Given the description of an element on the screen output the (x, y) to click on. 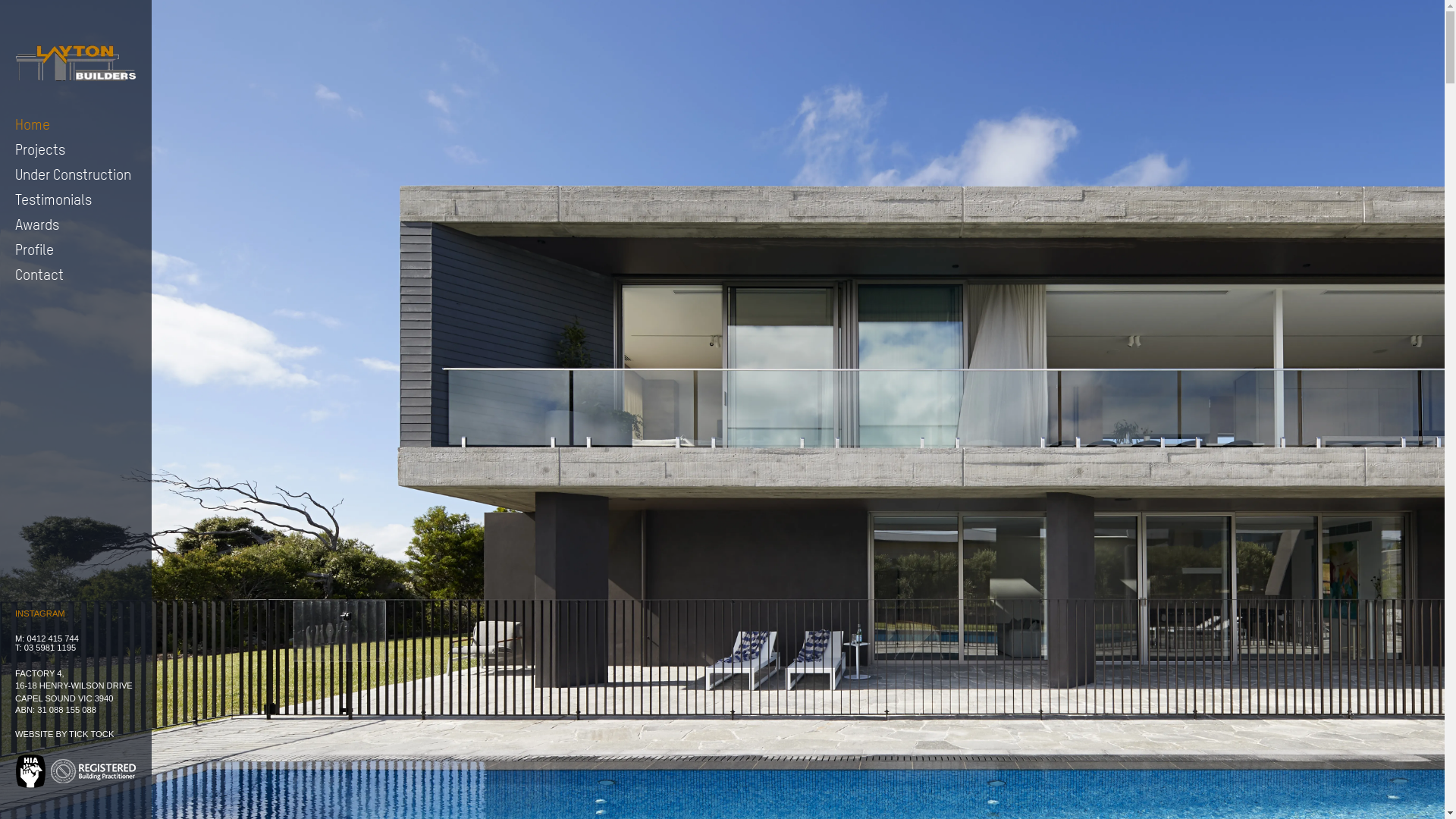
Home Element type: text (75, 123)
Contact Element type: text (75, 273)
WEBSITE BY TICK TOCK Element type: text (64, 733)
Skip to content Element type: text (14, 48)
Projects Element type: text (75, 148)
Testimonials Element type: text (75, 198)
Profile Element type: text (75, 248)
Awards Element type: text (75, 223)
Layton Builders Element type: hover (75, 61)
INSTAGRAM Element type: text (40, 613)
Under Construction Element type: text (75, 173)
